Given the description of an element on the screen output the (x, y) to click on. 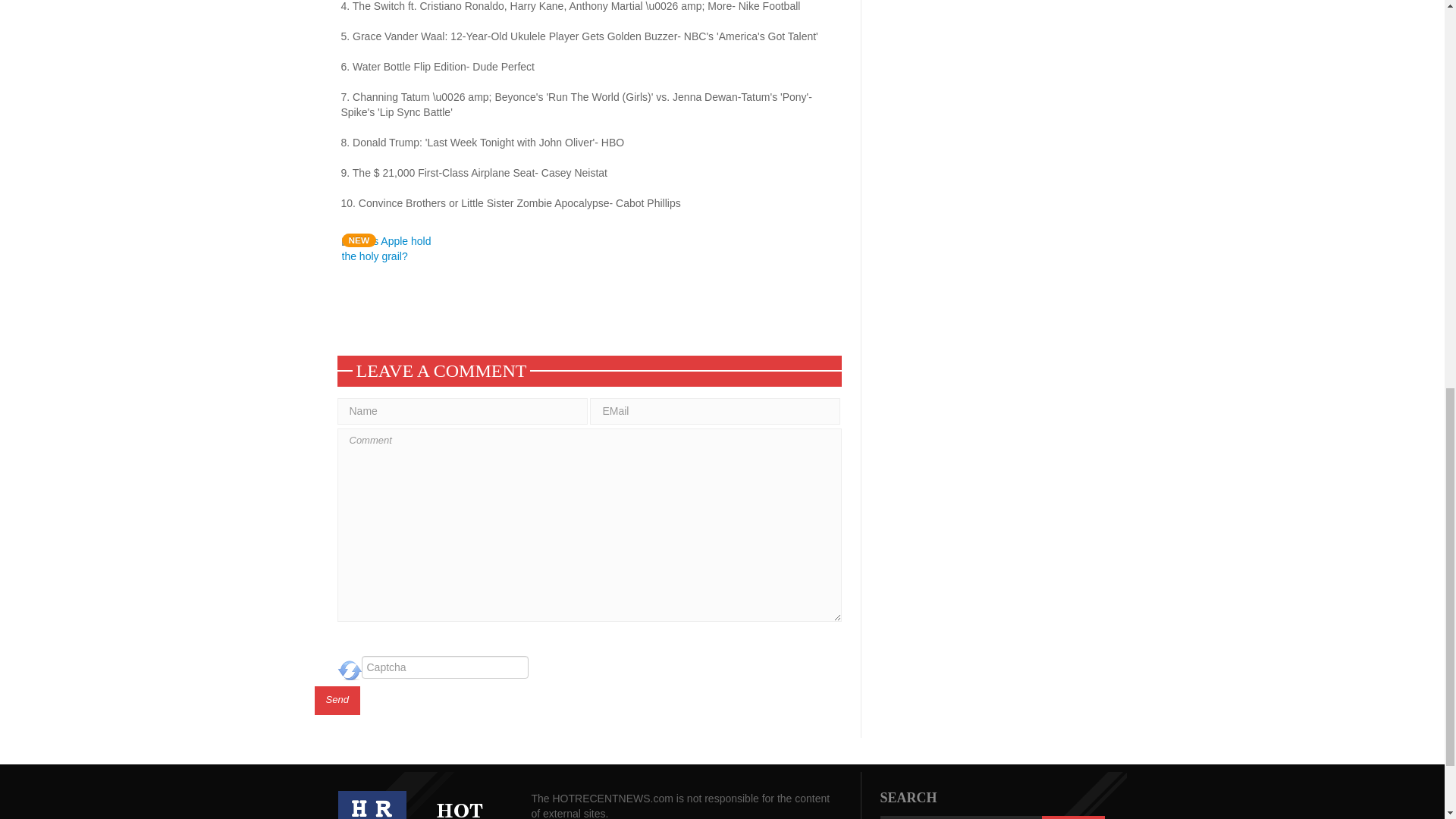
Does Apple hold the holy grail? (389, 247)
NEW (389, 247)
Send (336, 700)
Enter your search term... (960, 817)
Subscribe (1072, 817)
